Given the description of an element on the screen output the (x, y) to click on. 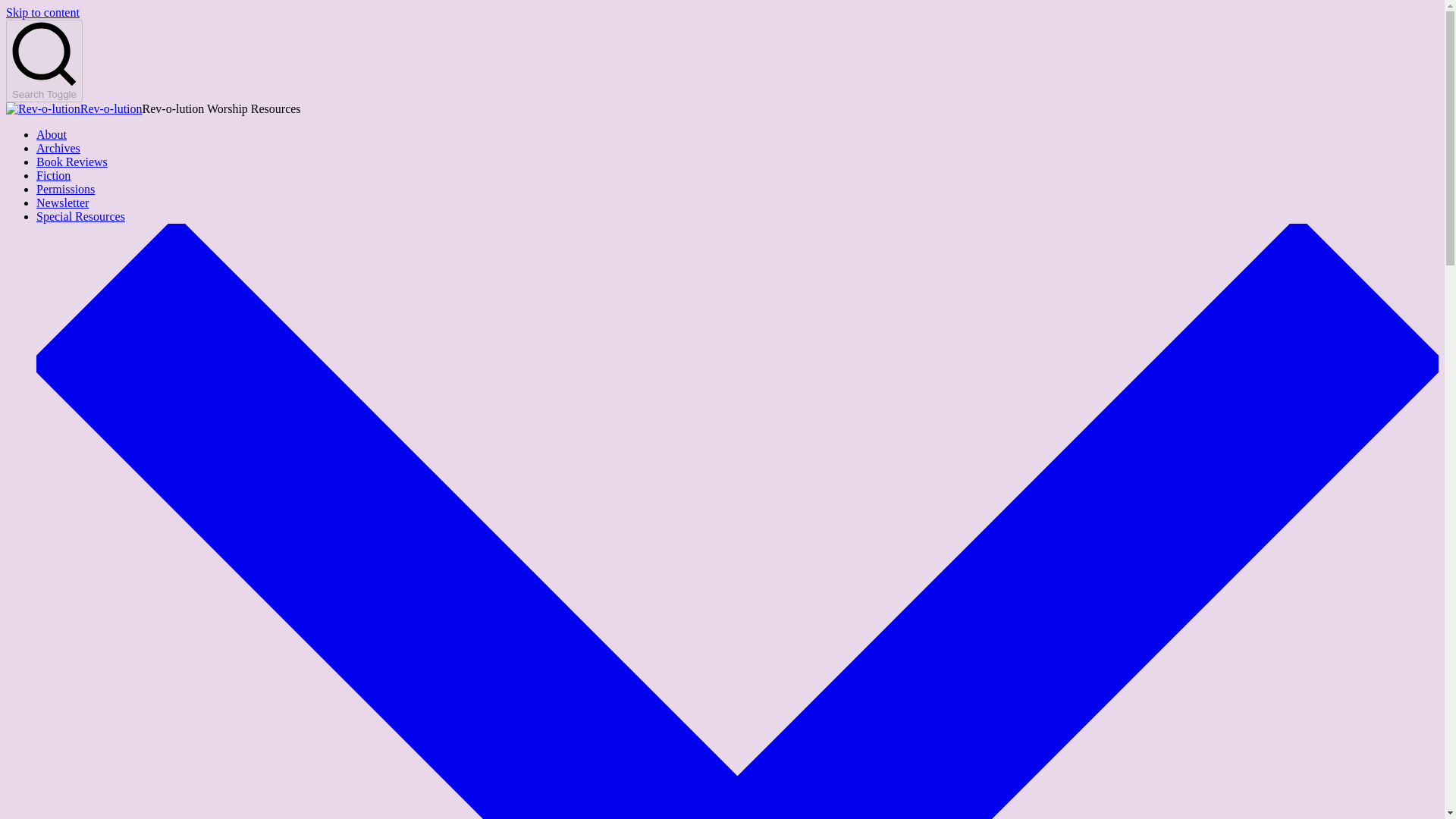
Skip to content (42, 11)
Fiction (52, 174)
Search Toggle (43, 60)
Newsletter (62, 202)
Archives (58, 147)
Book Reviews (71, 161)
Rev-o-lution (111, 108)
Permissions (65, 188)
About (51, 133)
